Given the description of an element on the screen output the (x, y) to click on. 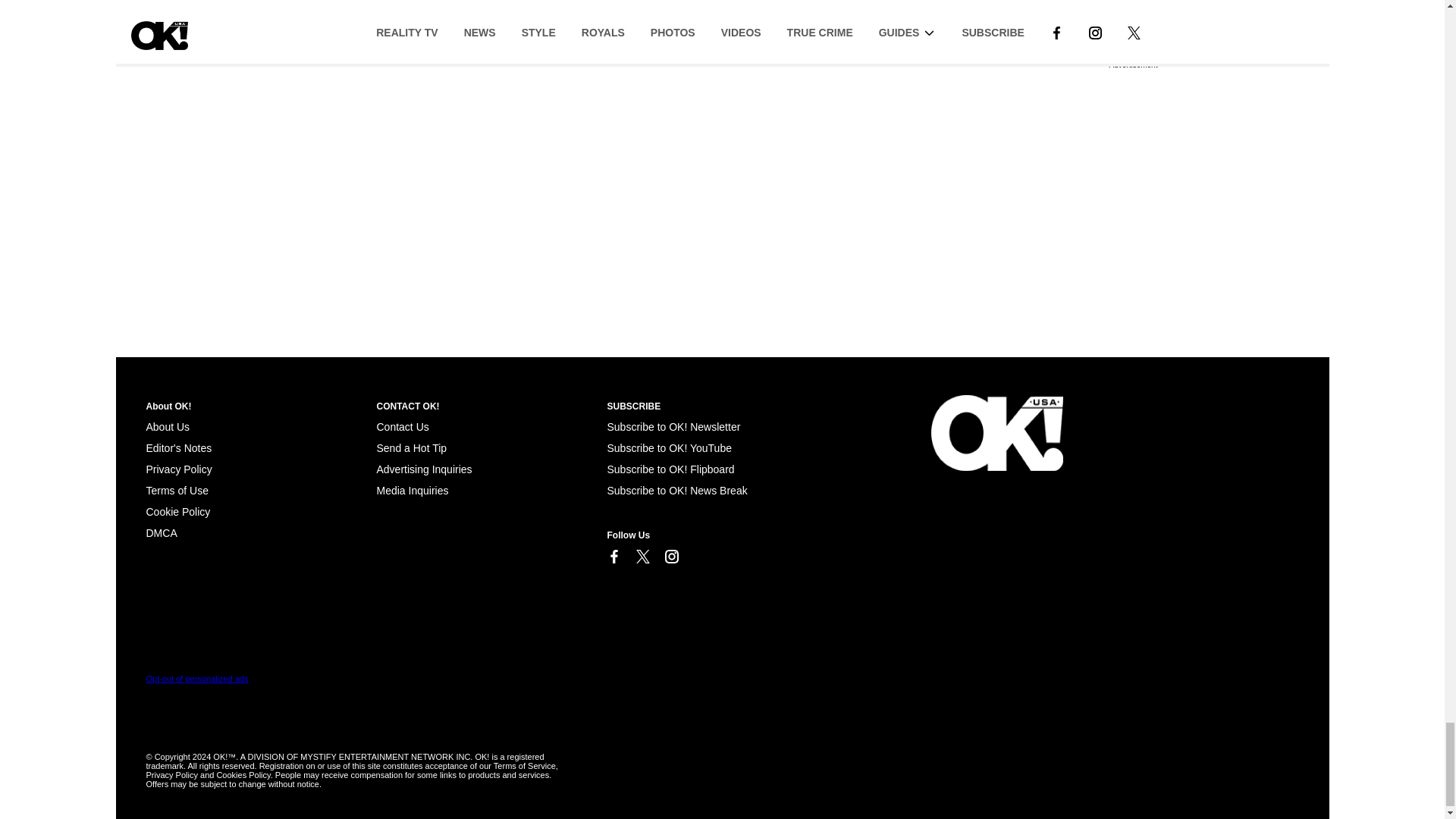
Media Inquiries (411, 490)
Advertising Inquiries (423, 469)
Link to Instagram (670, 556)
Editor's Notes (178, 448)
Subscribe to OK! Magazine on YouTube (668, 448)
Contact Us (401, 426)
Send a Hot Tip (410, 448)
Cookie Policy (160, 532)
Link to Facebook (613, 556)
Terms of Use (176, 490)
